Given the description of an element on the screen output the (x, y) to click on. 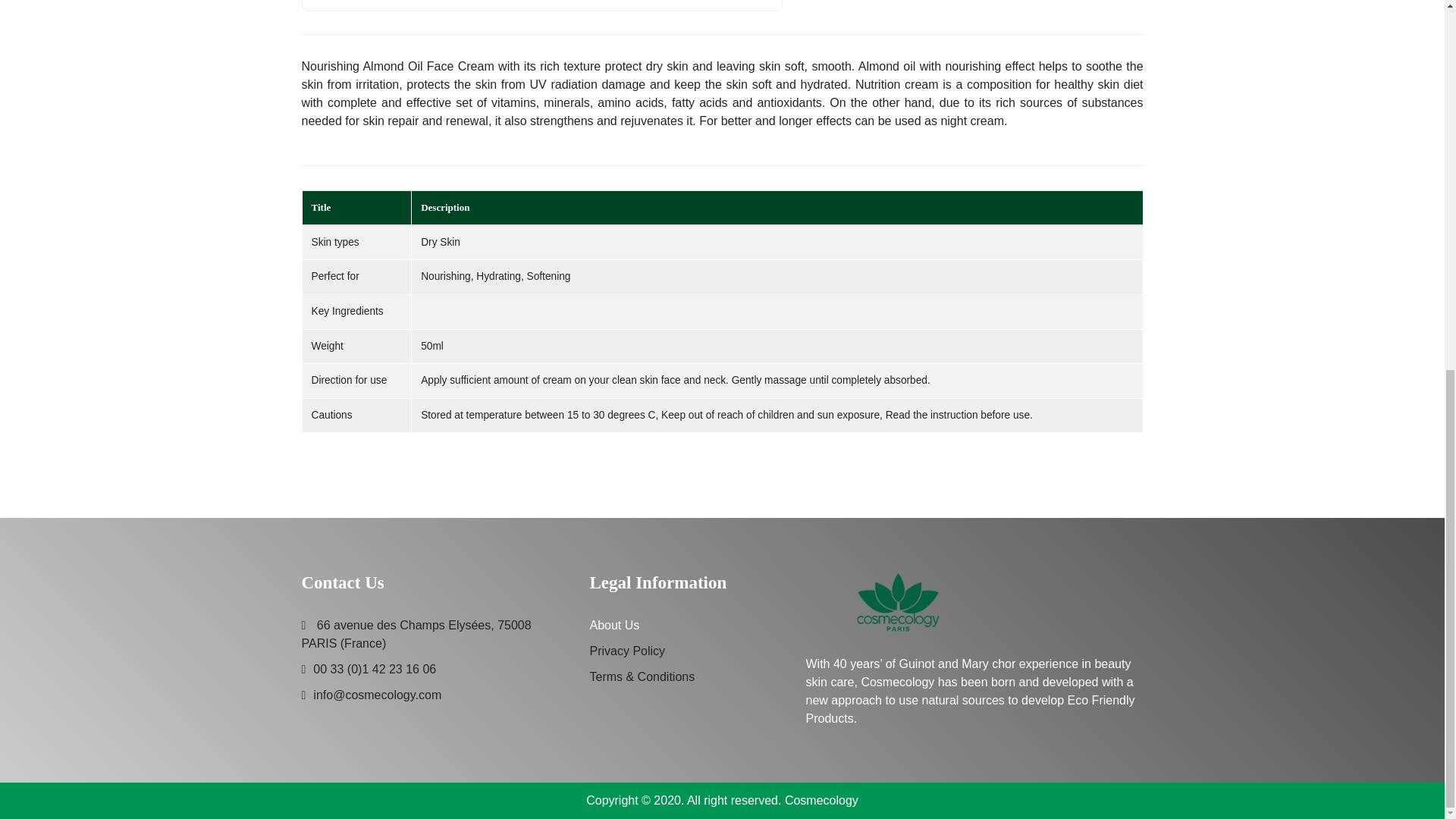
About Us (614, 625)
Privacy Policy (627, 650)
Home (898, 612)
Cosmecology (821, 799)
